Given the description of an element on the screen output the (x, y) to click on. 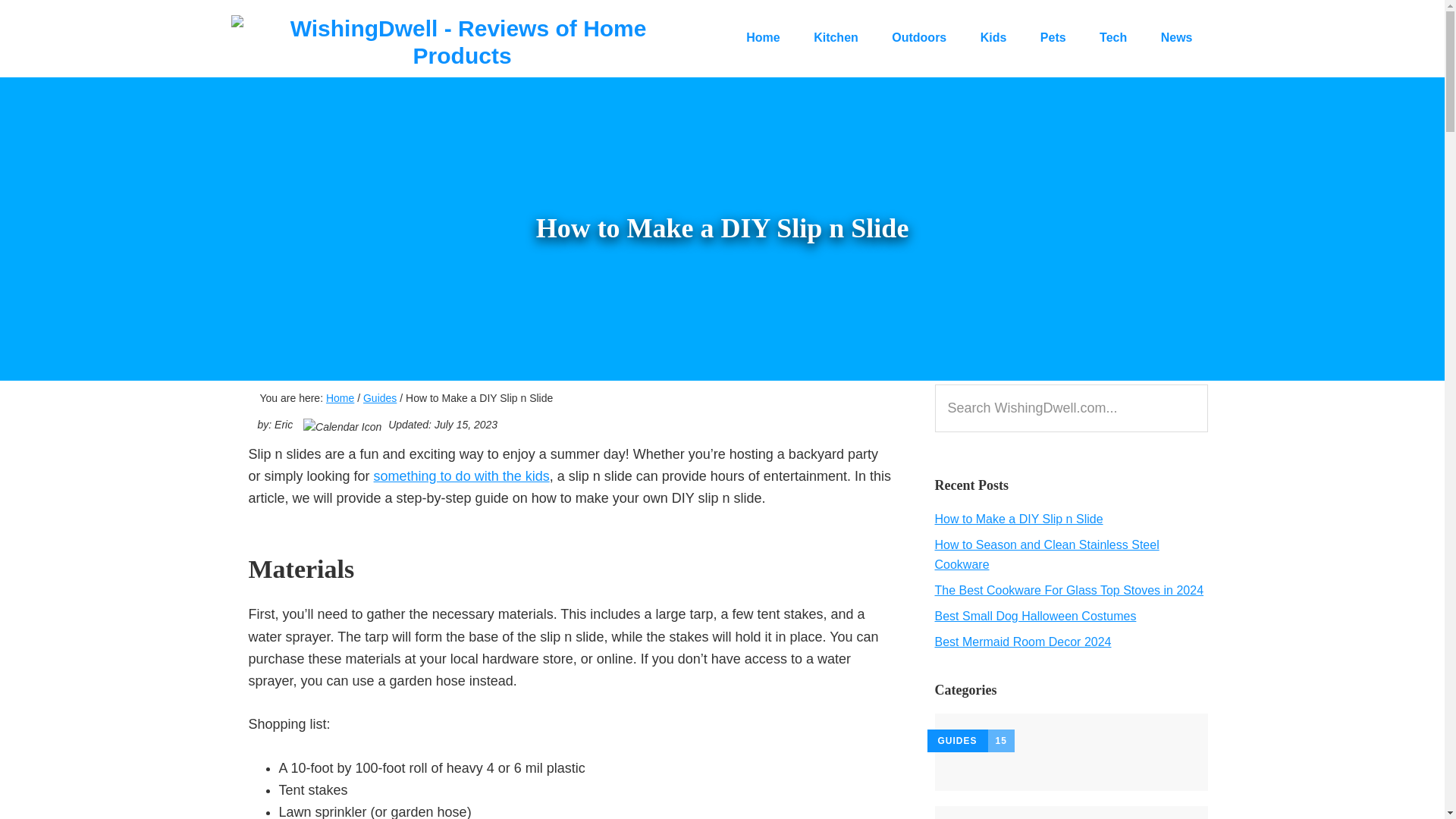
Guides (379, 398)
Kids (993, 37)
GUIDES 15 (1070, 752)
Pets (1053, 37)
Best Mermaid Room Decor 2024 (1022, 641)
Kitchen (835, 37)
Tech (1112, 37)
The Best Cookware For Glass Top Stoves in 2024 (1069, 590)
something to do with the kids (462, 476)
HOME 12 (1070, 812)
